Given the description of an element on the screen output the (x, y) to click on. 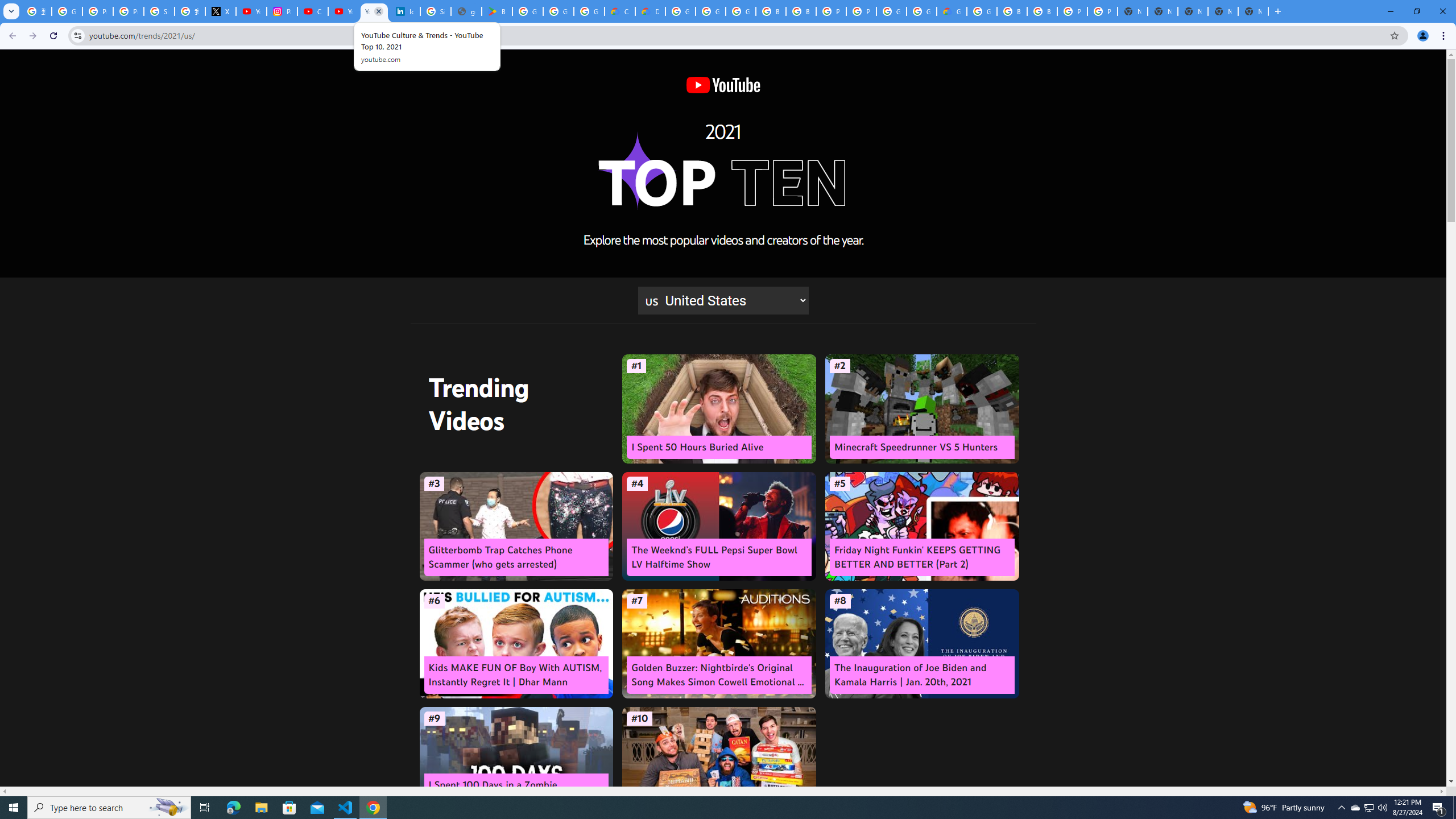
X (220, 11)
Browse Chrome as a guest - Computer - Google Chrome Help (770, 11)
#2 Minecraft Speedrunner VS 5 Hunters (921, 408)
Google Cloud Platform (680, 11)
YouTube logo (722, 84)
YouTube Content Monetization Policies - How YouTube Works (251, 11)
Google Cloud Platform (921, 11)
Sign in - Google Accounts (158, 11)
